Given the description of an element on the screen output the (x, y) to click on. 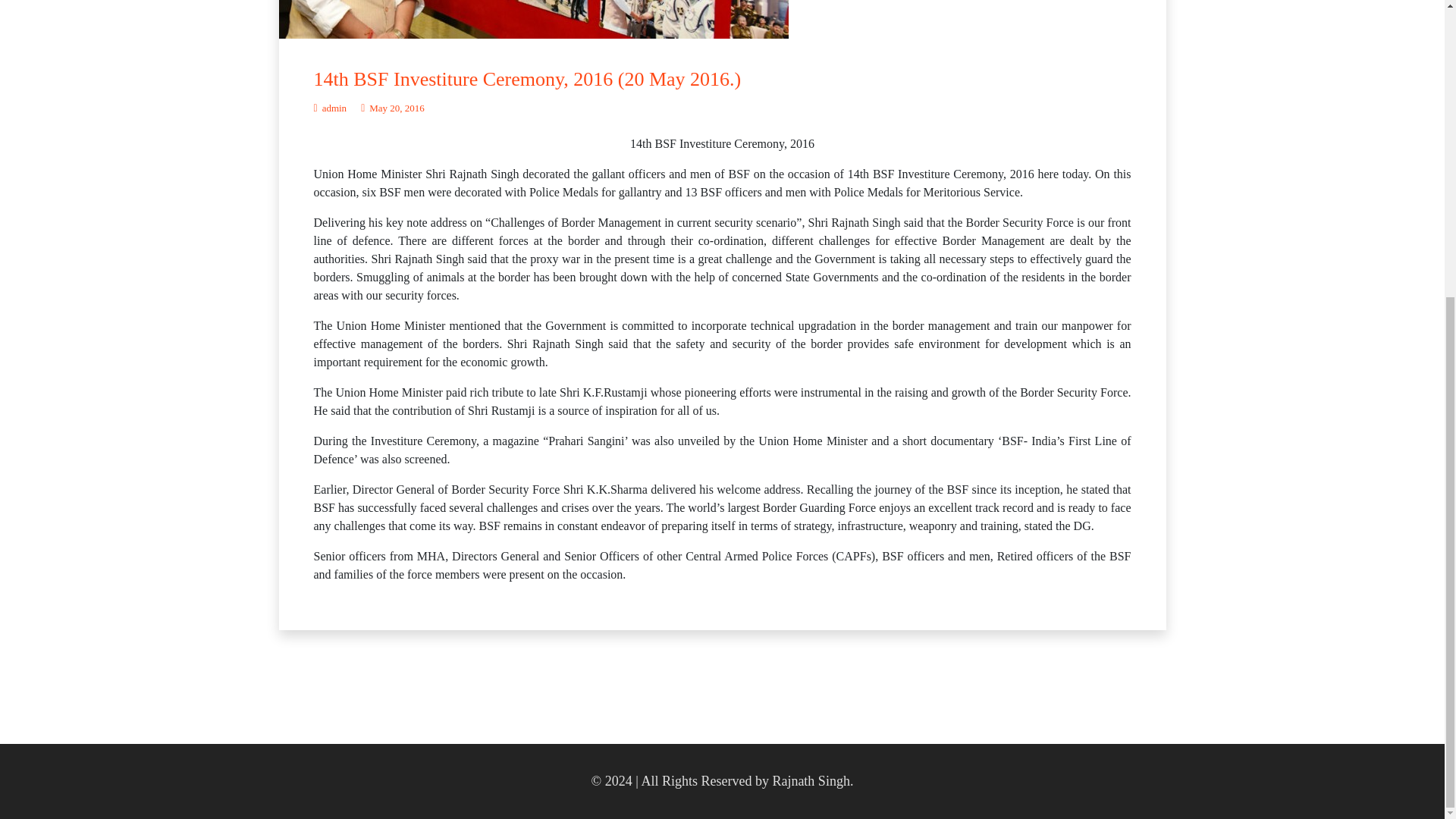
admin (330, 107)
May 20, 2016 (393, 107)
